Given the description of an element on the screen output the (x, y) to click on. 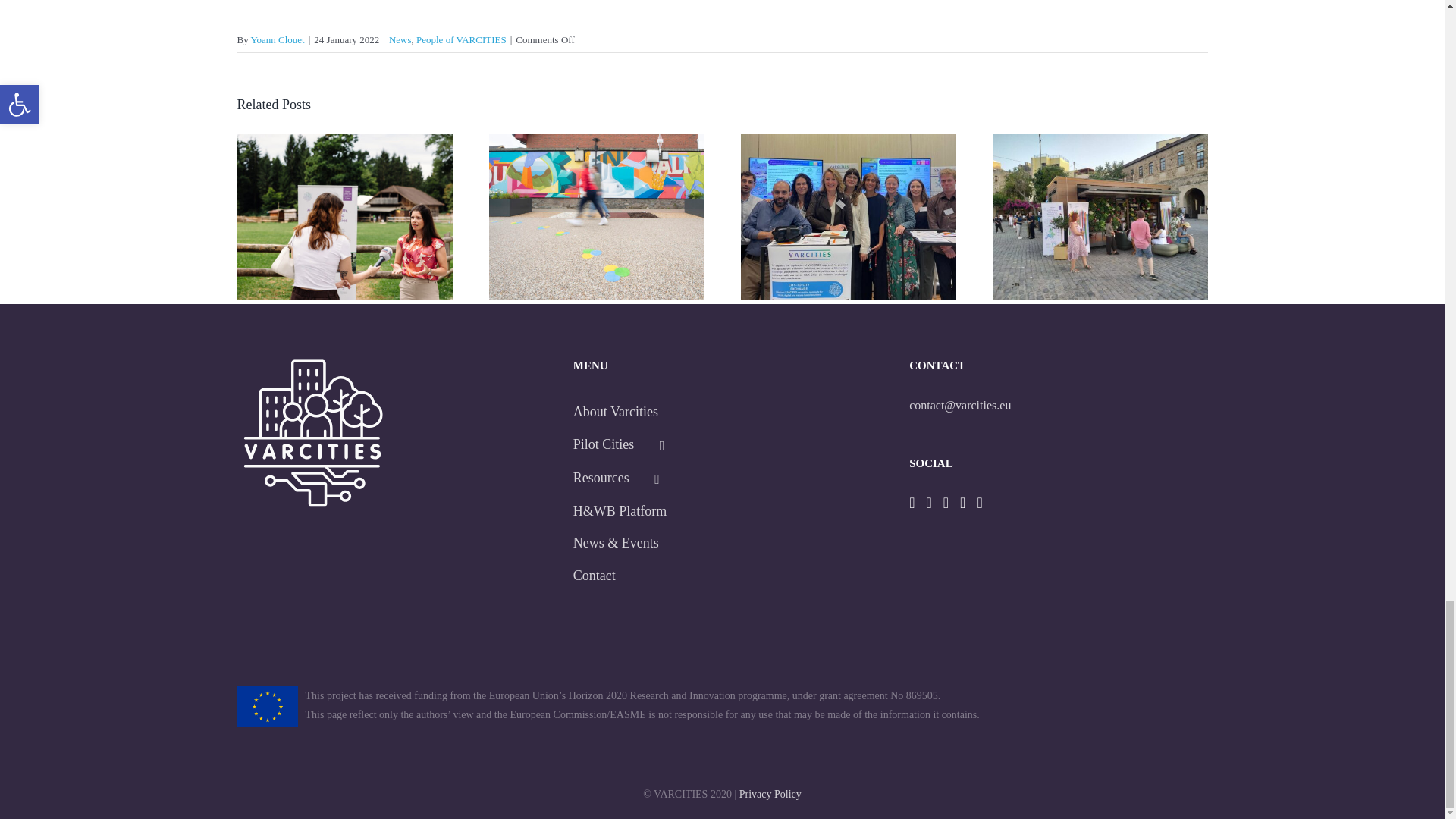
Posts by Yoann Clouet (277, 39)
